Given the description of an element on the screen output the (x, y) to click on. 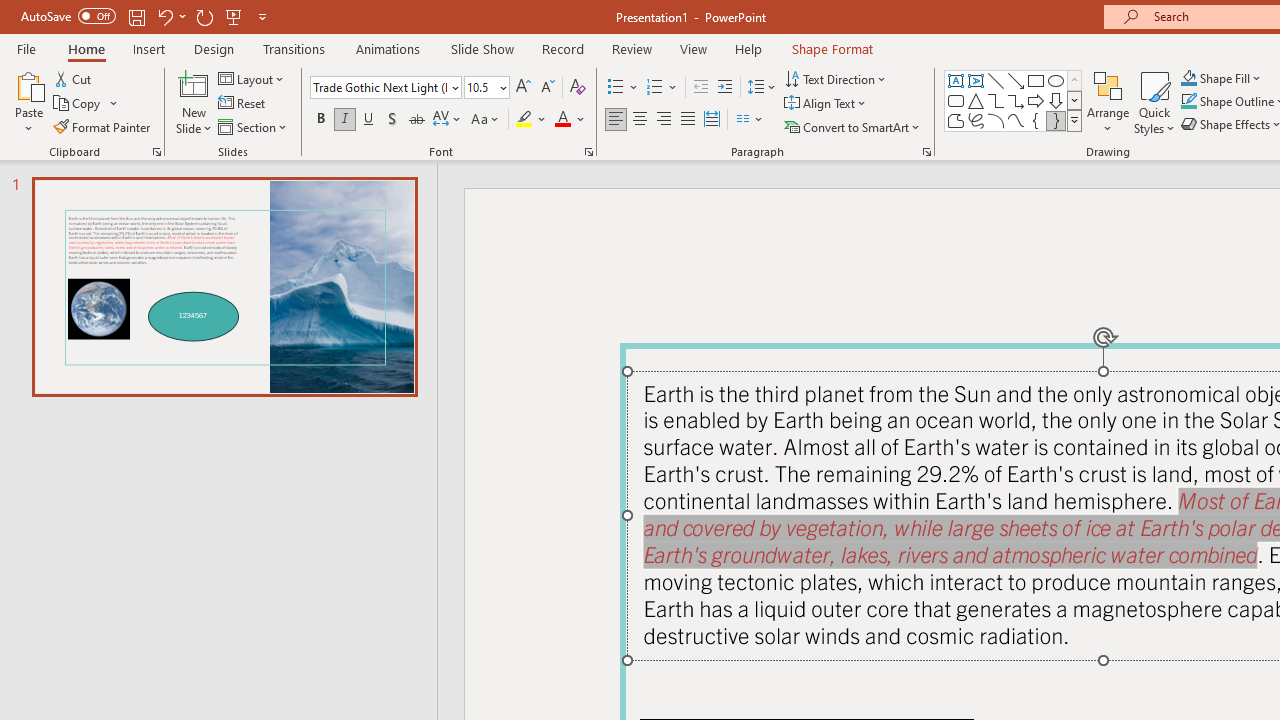
Shape Outline Teal, Accent 1 (1188, 101)
